Given the description of an element on the screen output the (x, y) to click on. 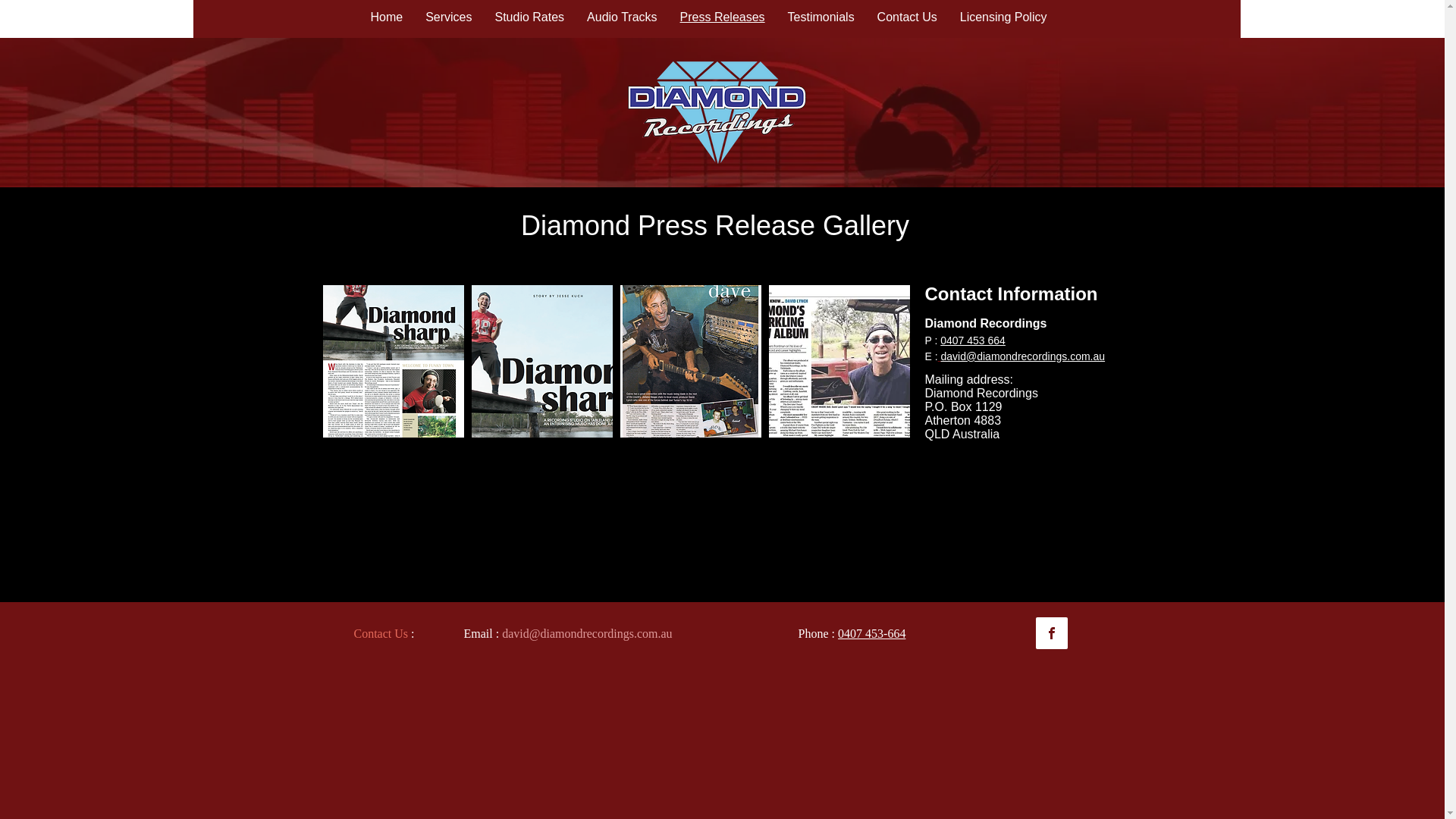
  Element type: text (939, 357)
Embedded Content Element type: hover (1024, 493)
0407 453-664 Element type: text (871, 634)
david@diamondrecordings.com.au Element type: text (586, 634)
Audio Tracks Element type: text (621, 17)
Licensing Policy Element type: text (1003, 17)
Services Element type: text (448, 17)
Testimonials Element type: text (821, 17)
Studio Rates Element type: text (529, 17)
Contact Us Element type: text (907, 17)
Home Element type: text (386, 17)
david@diamondrecordings.com.au Element type: text (1023, 357)
0407 453 664 Element type: text (972, 341)
Press Releases Element type: text (722, 17)
